Given the description of an element on the screen output the (x, y) to click on. 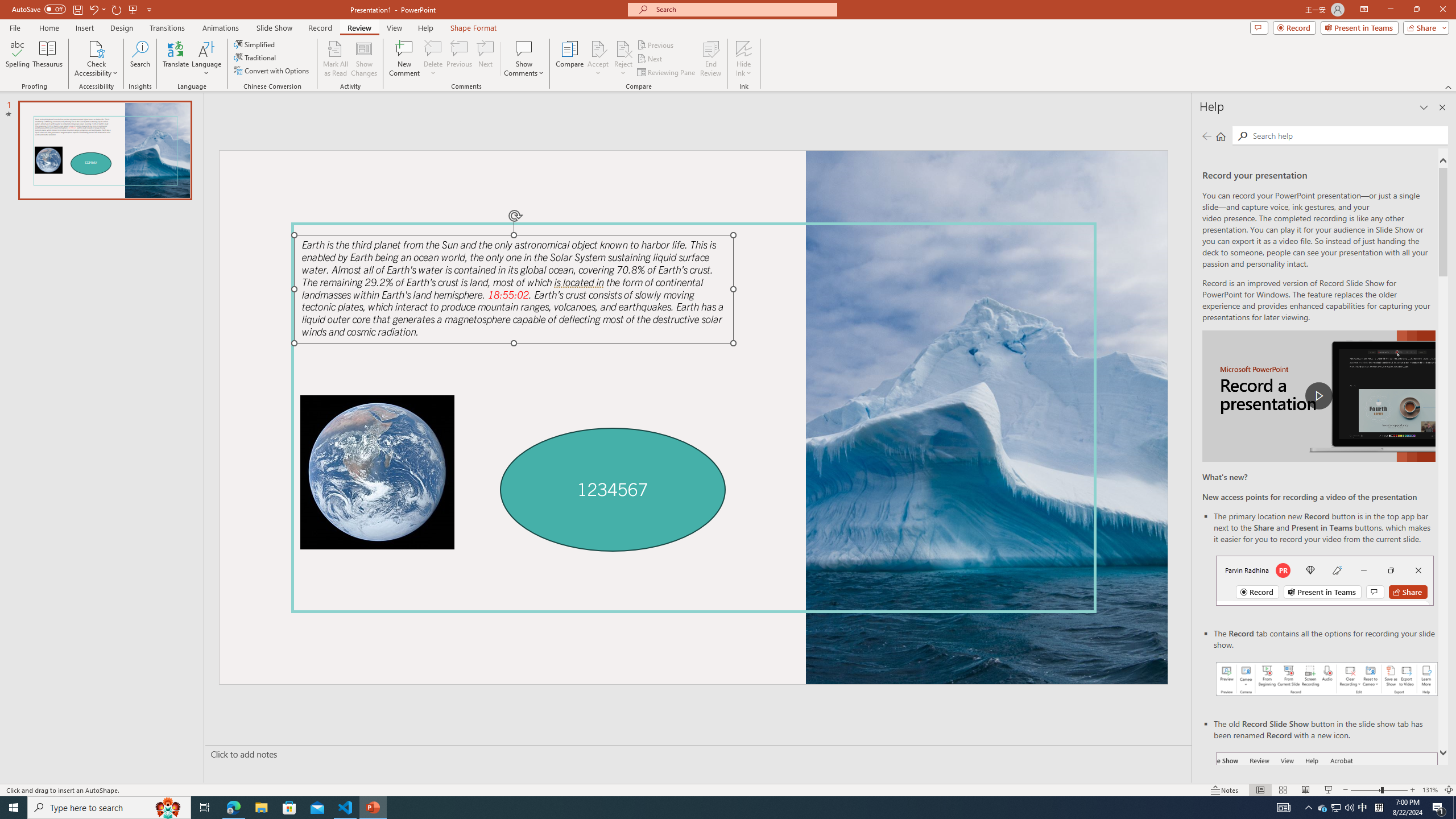
Simplified (254, 44)
Compare (569, 58)
Delete (432, 58)
Mark All as Read (335, 58)
Show Changes (363, 58)
